Given the description of an element on the screen output the (x, y) to click on. 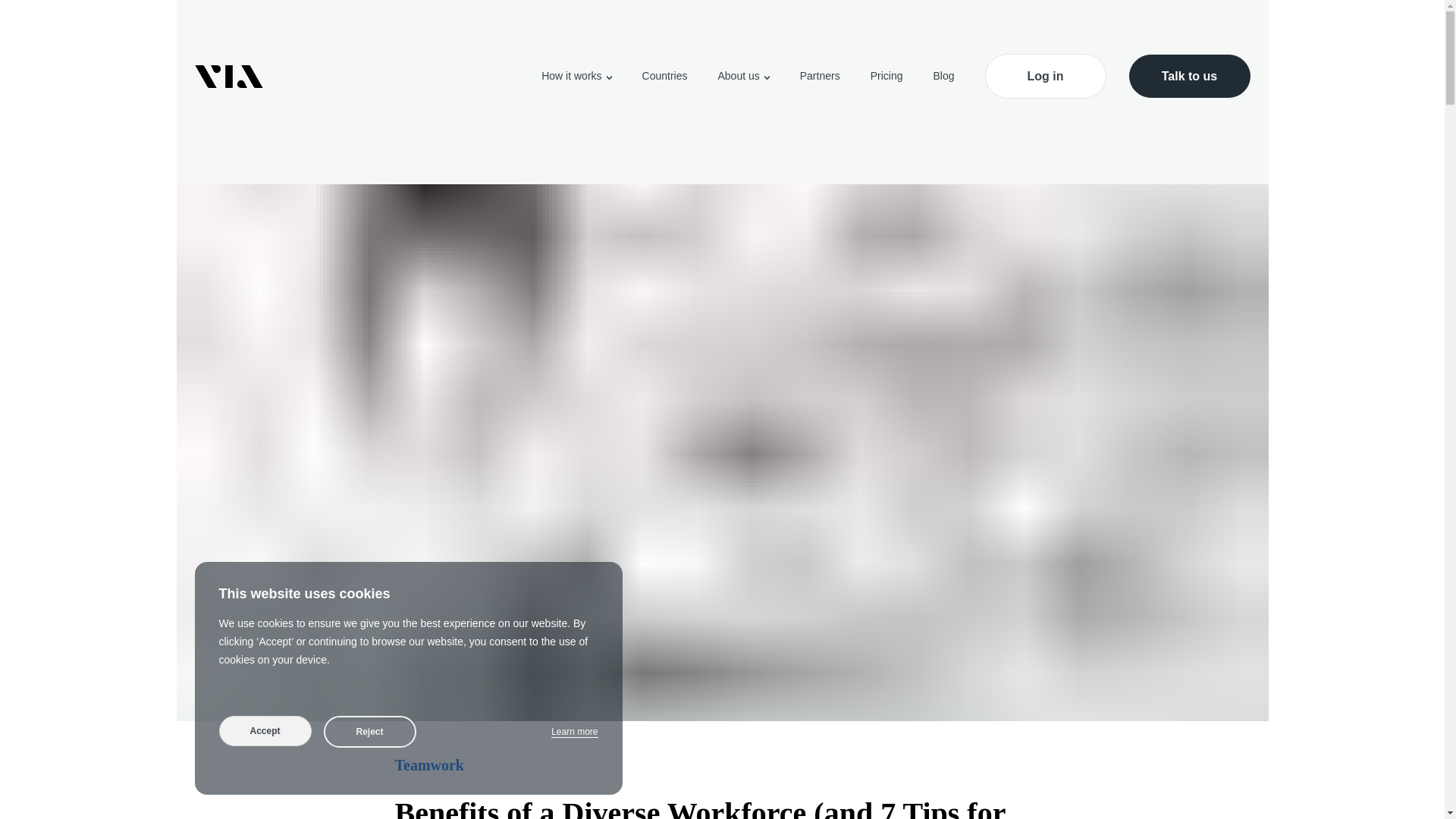
Partners (819, 75)
Talk to us (1188, 75)
Reject (368, 731)
Countries (664, 75)
Blog (943, 75)
Learn more (573, 731)
Pricing (886, 75)
Accept (264, 730)
Log in (1044, 76)
